Given the description of an element on the screen output the (x, y) to click on. 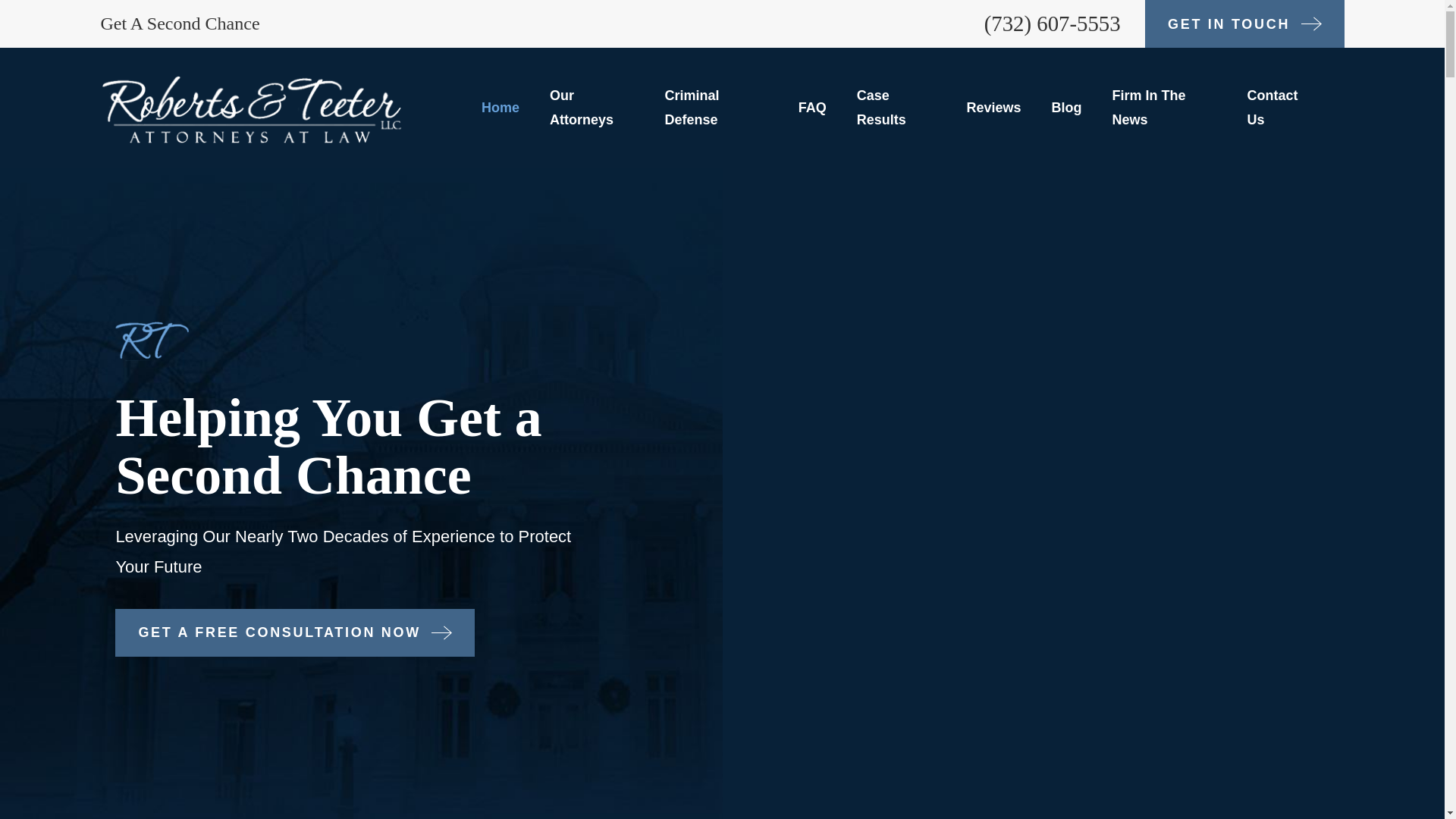
Home (250, 107)
Criminal Defense (715, 107)
Our Attorneys (591, 107)
Case Results (896, 107)
GET IN TOUCH (1243, 23)
